Given the description of an element on the screen output the (x, y) to click on. 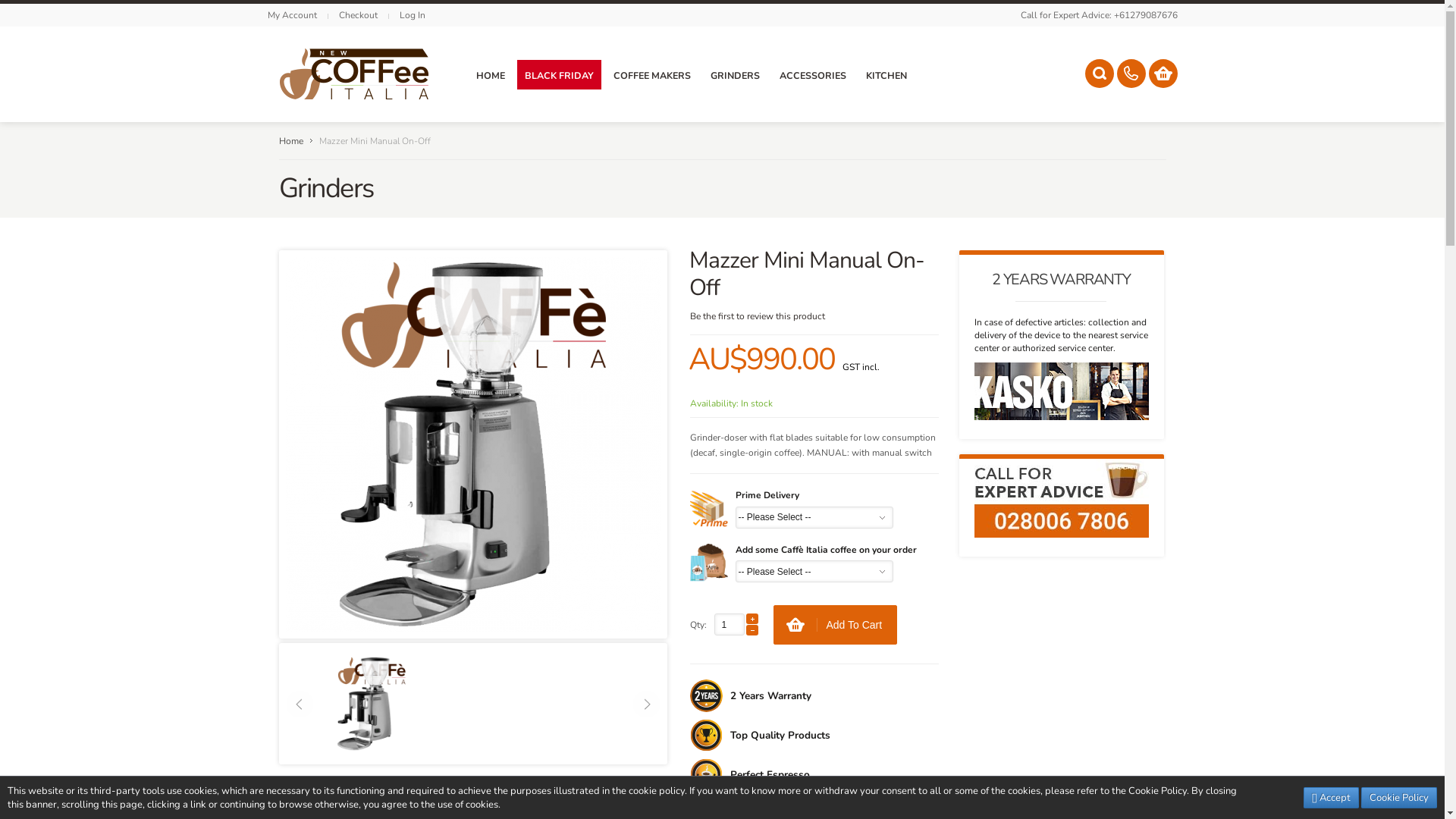
GRINDERS Element type: text (734, 74)
Be the first to review this product Element type: text (757, 316)
My Account Element type: text (291, 15)
Cookie Policy Element type: text (1399, 797)
Call for Expert Advice: +61279087676 Element type: text (1098, 15)
Add To Cart Element type: text (835, 624)
Log In Element type: text (411, 15)
KITCHEN Element type: text (886, 74)
HOME Element type: text (490, 74)
COFFEE MAKERS Element type: text (651, 74)
- Element type: text (752, 629)
Home Element type: text (291, 140)
Mazzer Mini Manual On-Off Element type: hover (472, 444)
+ Element type: text (752, 618)
BLACK FRIDAY Element type: text (559, 74)
ACCESSORIES Element type: text (812, 74)
Qty Element type: hover (729, 624)
Accept Element type: text (1330, 797)
Checkout Element type: text (357, 15)
